Given the description of an element on the screen output the (x, y) to click on. 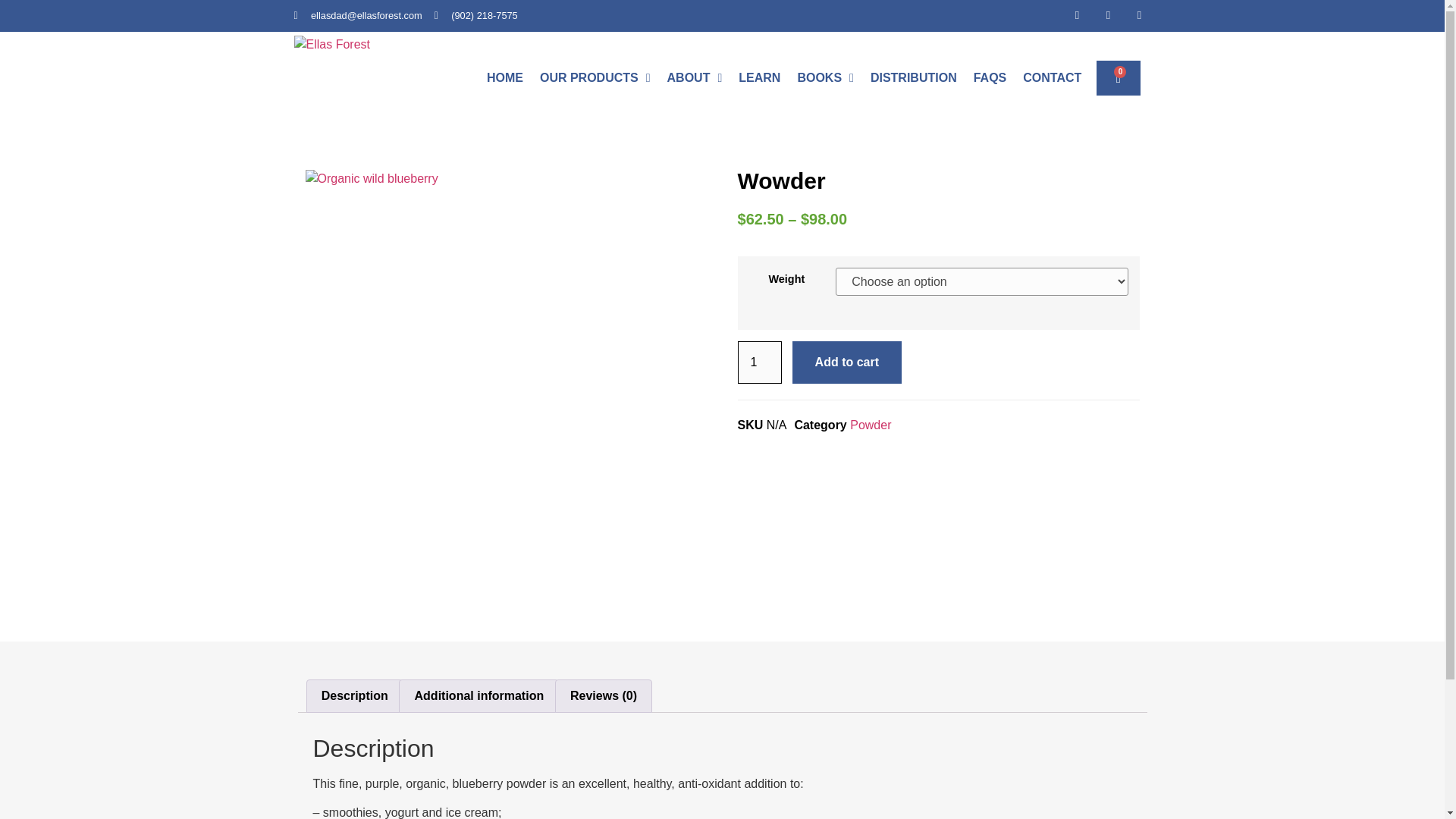
LEARN (759, 77)
FAQS (990, 77)
ABOUT (694, 77)
HOME (504, 77)
BOOKS (824, 77)
DISTRIBUTION (913, 77)
1 (758, 362)
CONTACT (1052, 77)
OUR PRODUCTS (595, 77)
